Given the description of an element on the screen output the (x, y) to click on. 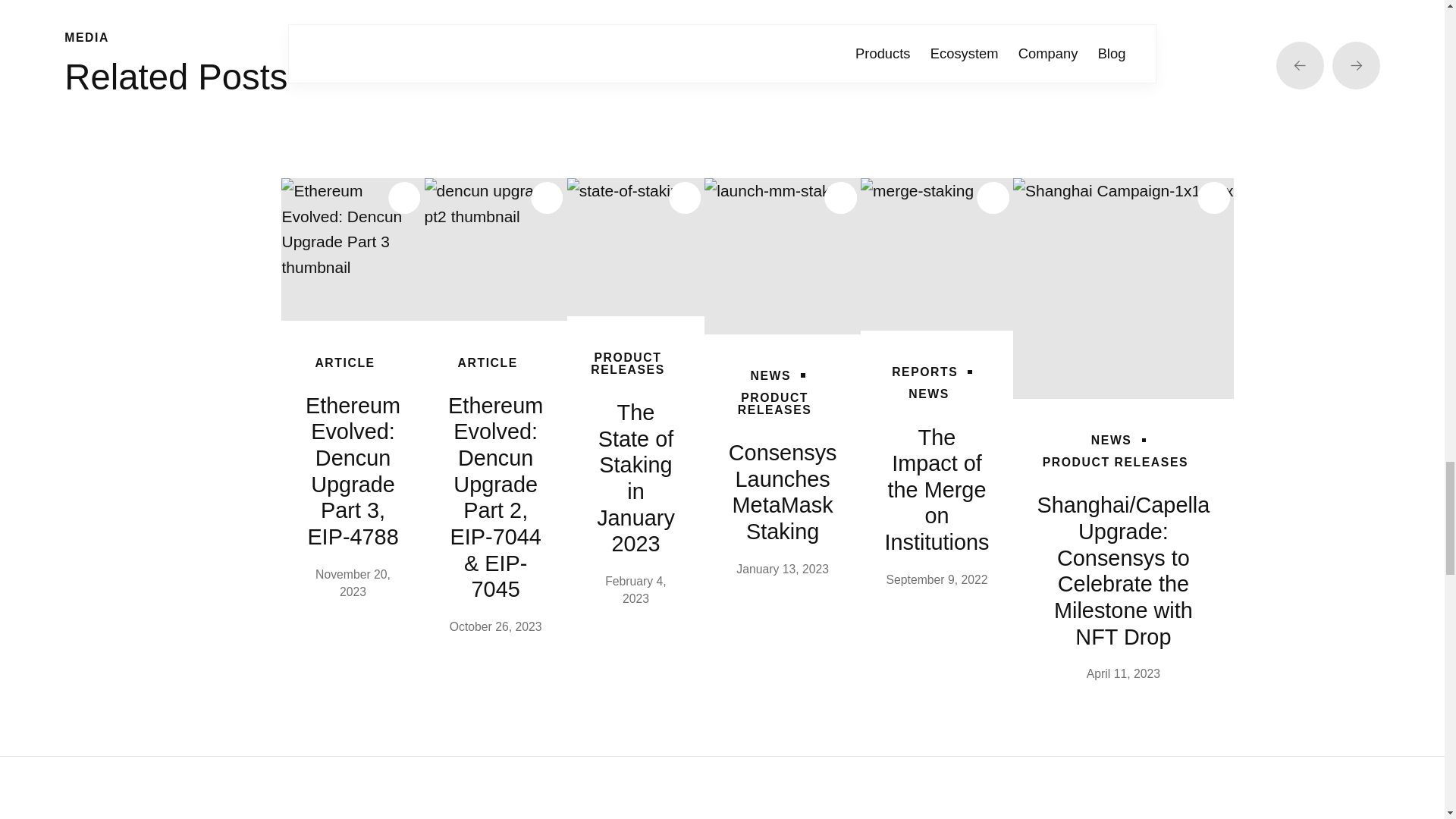
The Impact of the Merge on Institutions (936, 254)
NEWS (1115, 440)
The State of Staking in January 2023 (635, 247)
NEWS (928, 394)
Consensys Launches MetaMask Staking (782, 256)
ARTICLE (488, 363)
NEWS (775, 376)
REPORTS (928, 372)
Ethereum Evolved: Dencun Upgrade Part 3, EIP-4788 (352, 249)
PRODUCT RELEASES (628, 363)
